Given the description of an element on the screen output the (x, y) to click on. 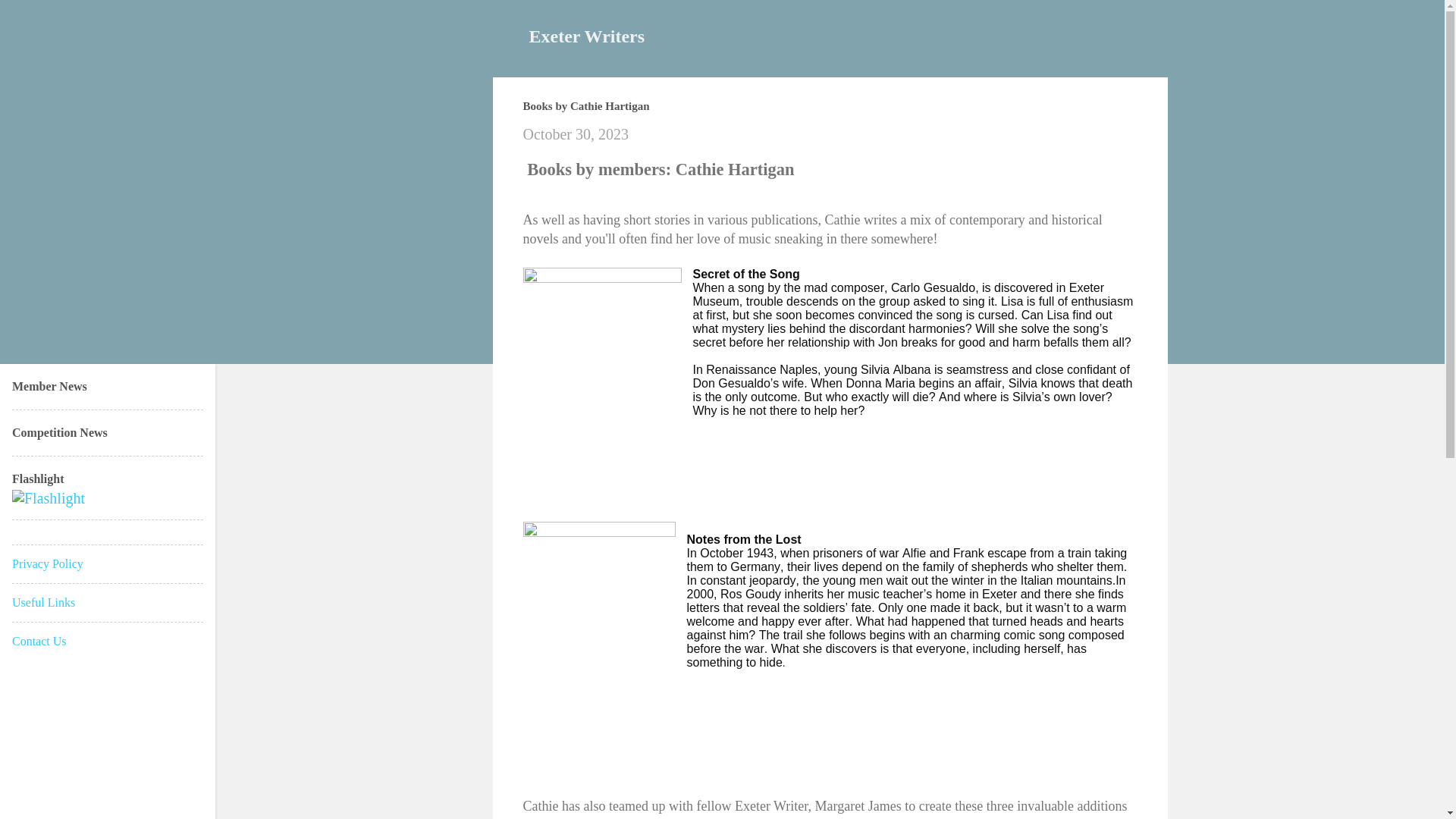
Contact Us (38, 640)
Search (37, 18)
October 30, 2023 (575, 134)
Privacy Policy (46, 563)
permanent link (575, 134)
Exeter Writers (587, 35)
Useful Links (43, 602)
